Given the description of an element on the screen output the (x, y) to click on. 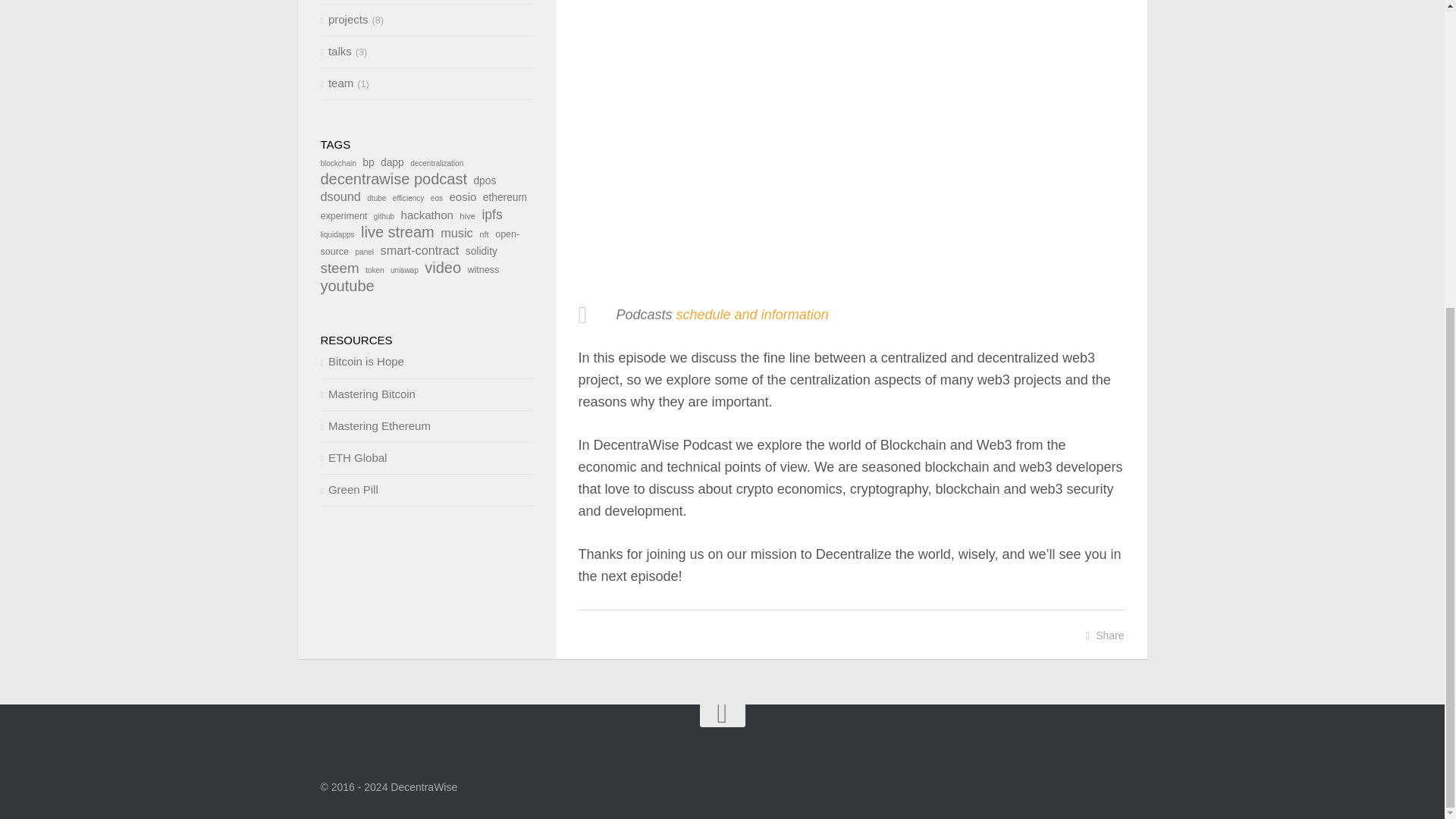
schedule and information (752, 314)
Share (1105, 635)
projects (344, 19)
bp (368, 162)
team (336, 82)
blockchain (337, 162)
dapp (392, 162)
talks (335, 51)
